Given the description of an element on the screen output the (x, y) to click on. 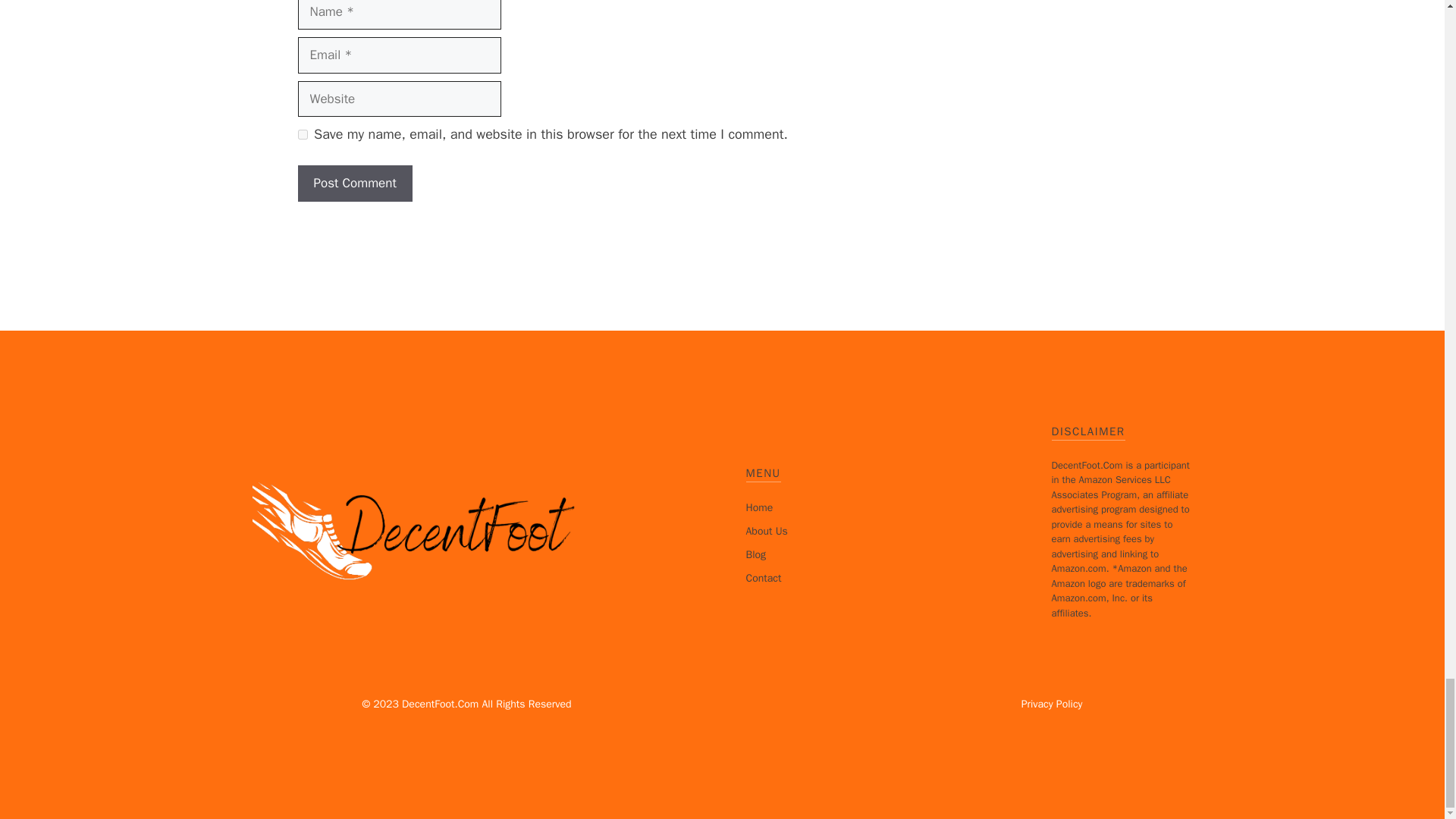
Post Comment (354, 183)
yes (302, 134)
Post Comment (354, 183)
Home (759, 507)
